Given the description of an element on the screen output the (x, y) to click on. 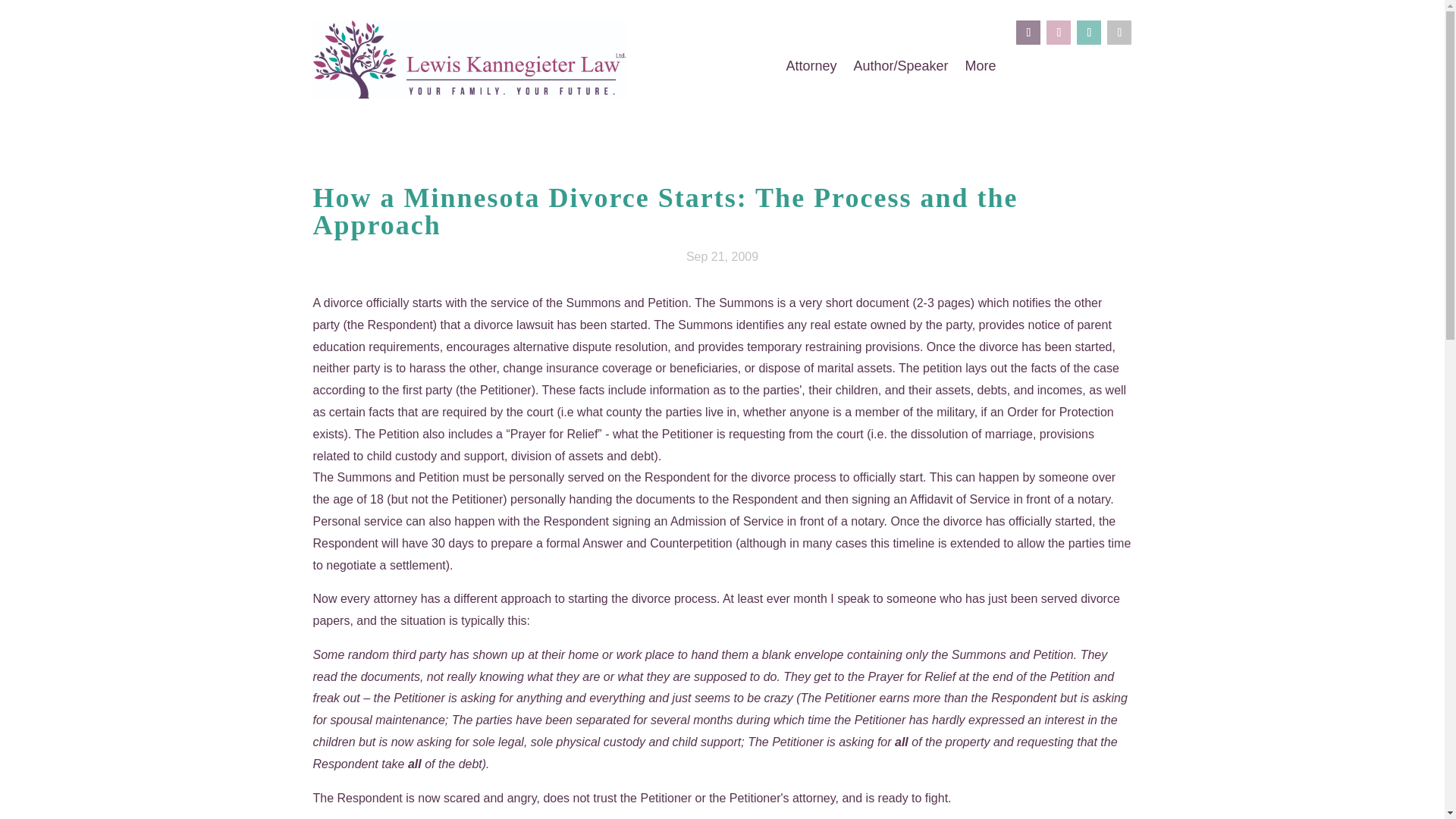
Follow on Facebook (1028, 32)
Follow on Google (1118, 32)
Follow on Youtube (1088, 32)
Attorney (810, 69)
More (979, 69)
Lewis Kannegieter Law final (469, 59)
Follow on Instagram (1058, 32)
